Given the description of an element on the screen output the (x, y) to click on. 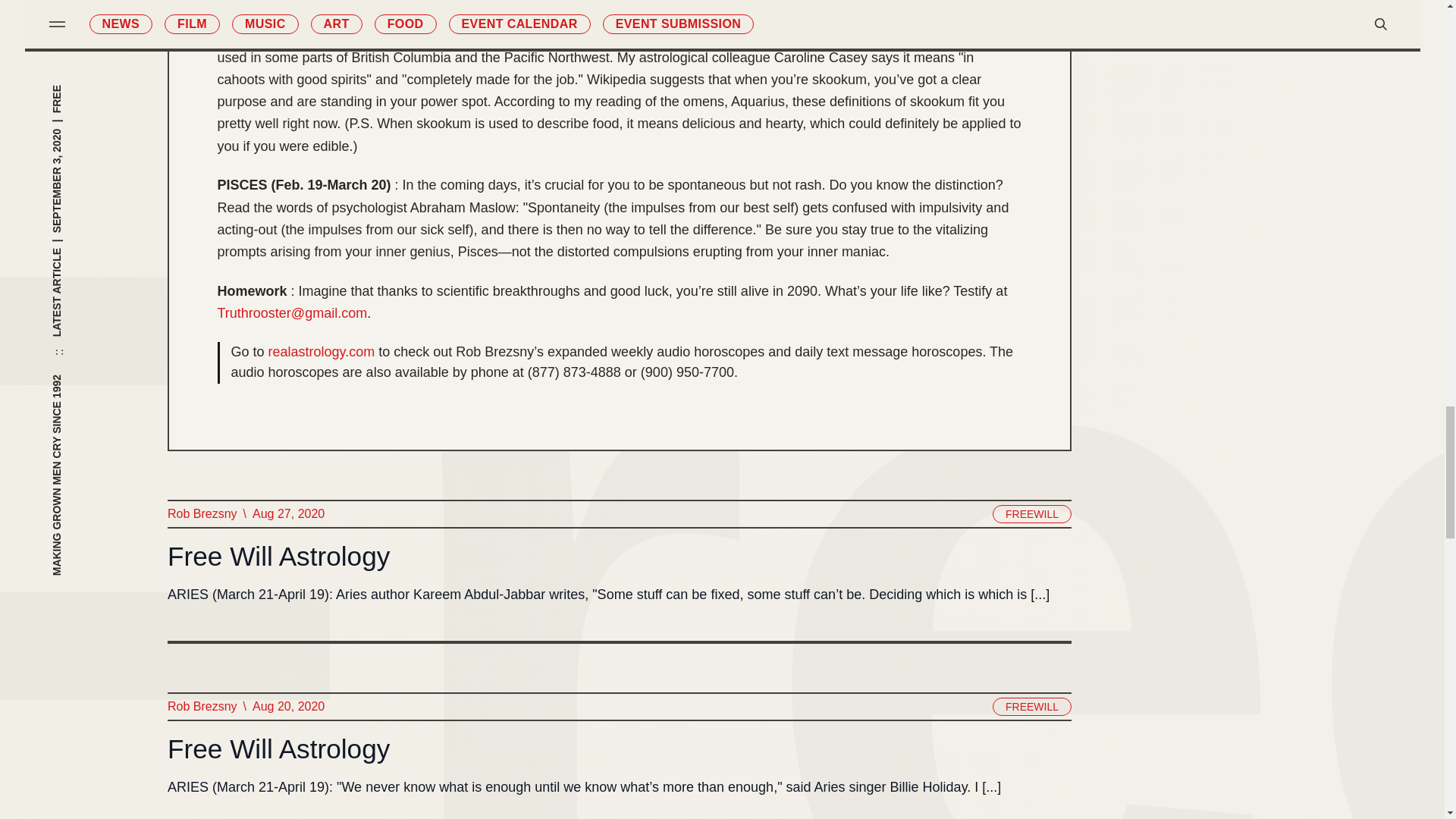
realastrology.com (321, 352)
FREEWILL (1030, 706)
Rob Brezsny (201, 513)
Rob Brezsny (201, 706)
FREEWILL (1030, 514)
